Given the description of an element on the screen output the (x, y) to click on. 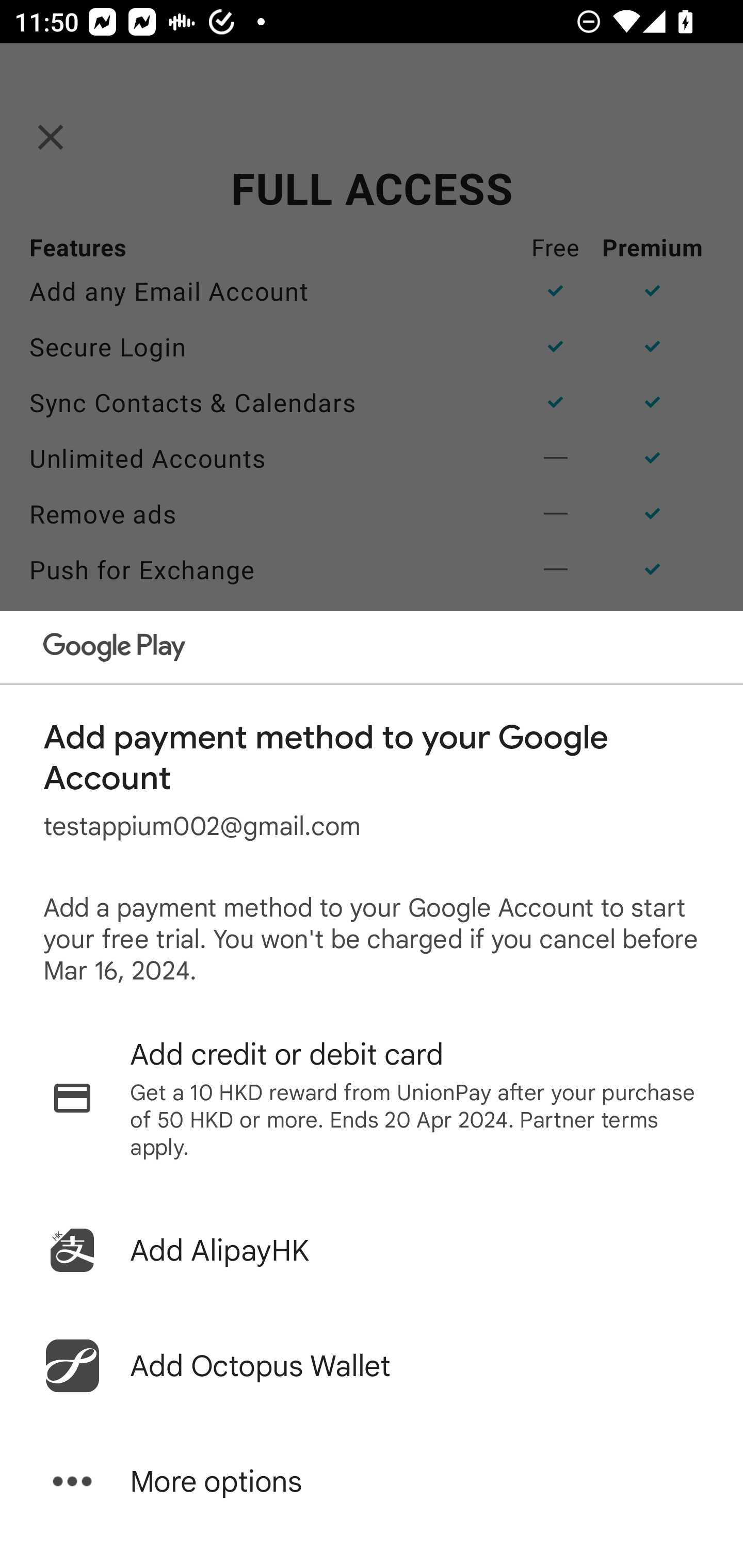
Add AlipayHK (371, 1250)
Add Octopus Wallet (371, 1365)
More options (371, 1481)
